Given the description of an element on the screen output the (x, y) to click on. 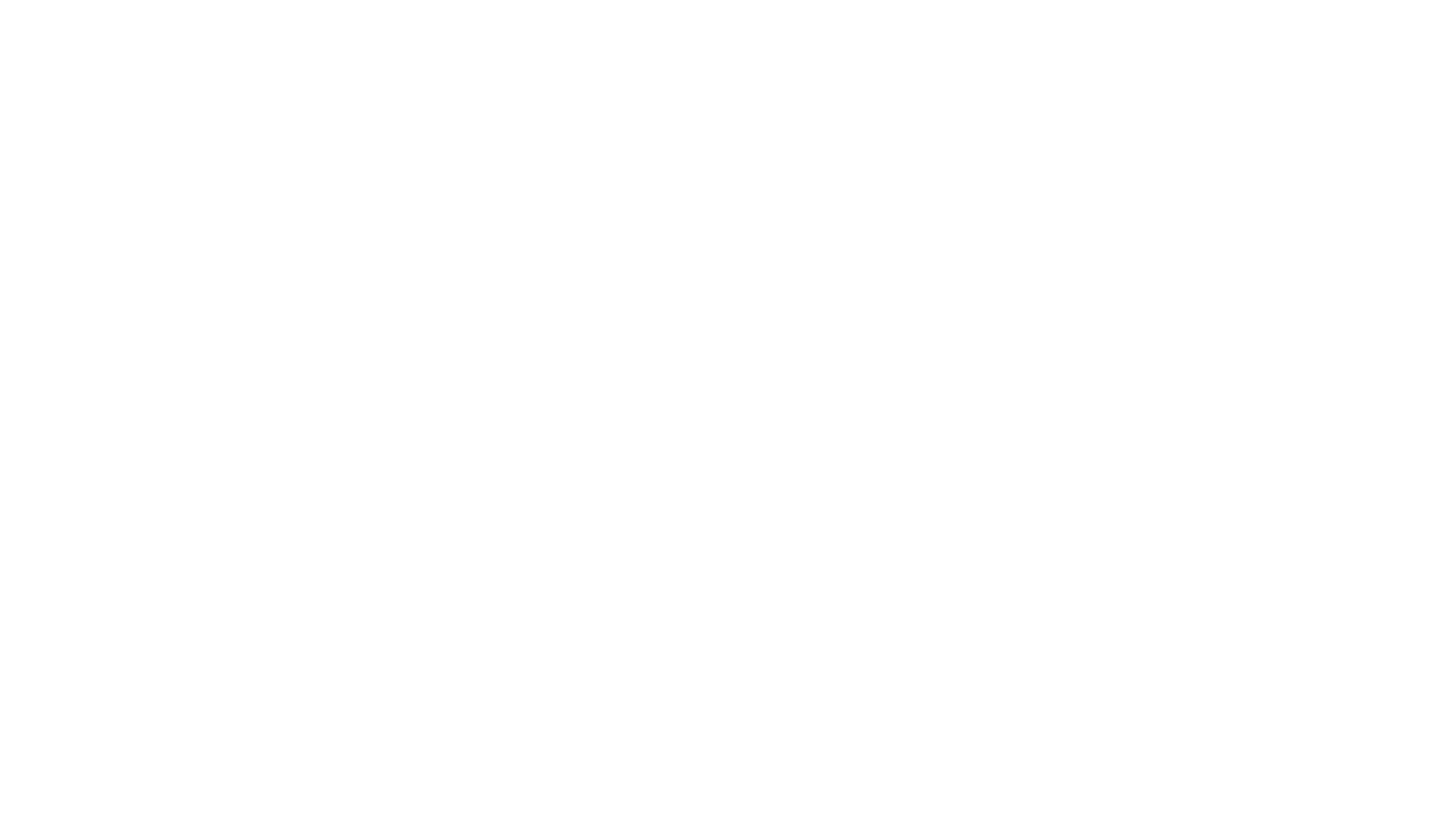
Submit Element type: text (21, 7)
